Given the description of an element on the screen output the (x, y) to click on. 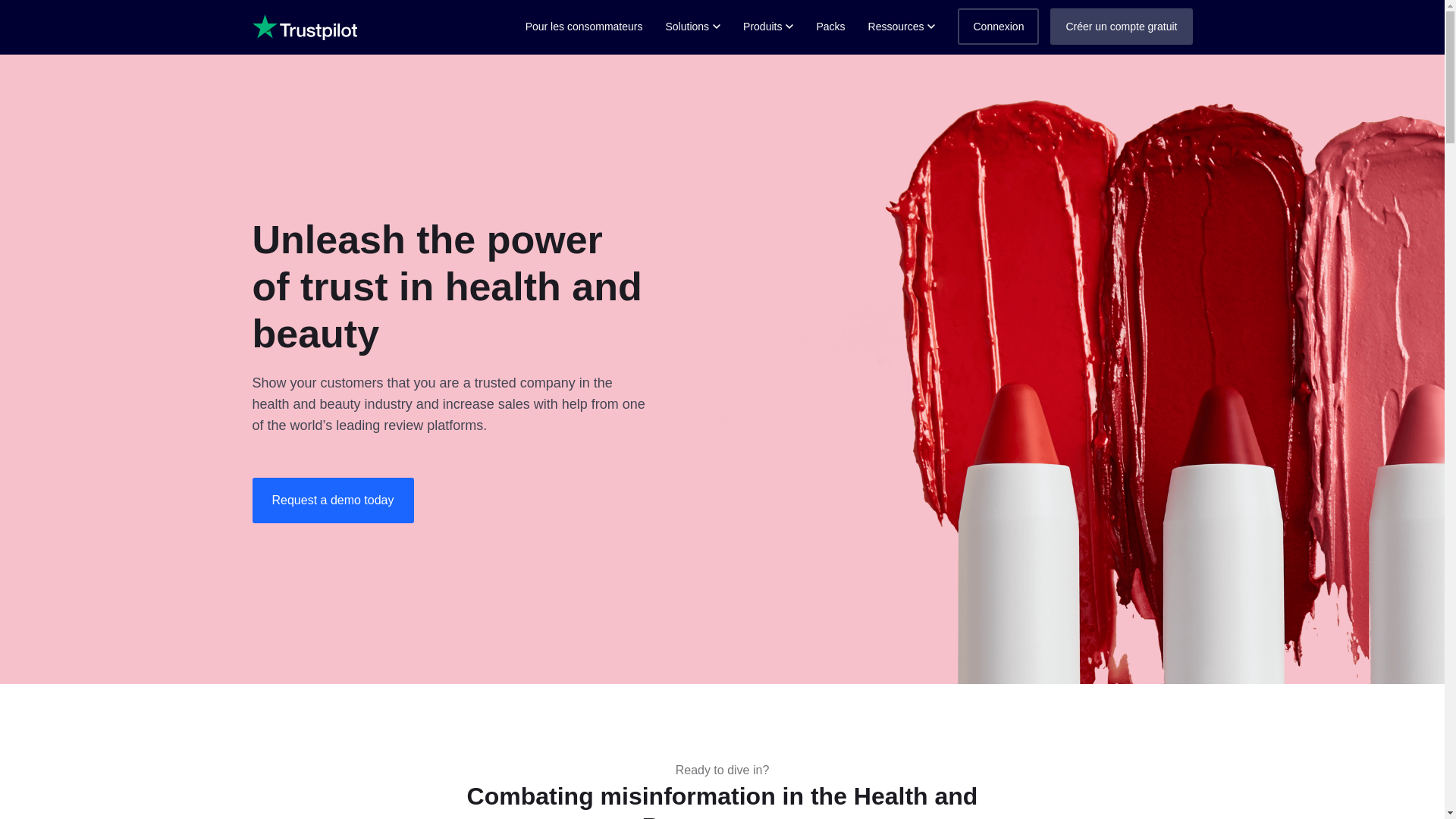
Connexion (998, 25)
Packs (830, 27)
Pour les consommateurs (583, 27)
Request a demo today (332, 500)
Trustpilot Logo (303, 27)
